Given the description of an element on the screen output the (x, y) to click on. 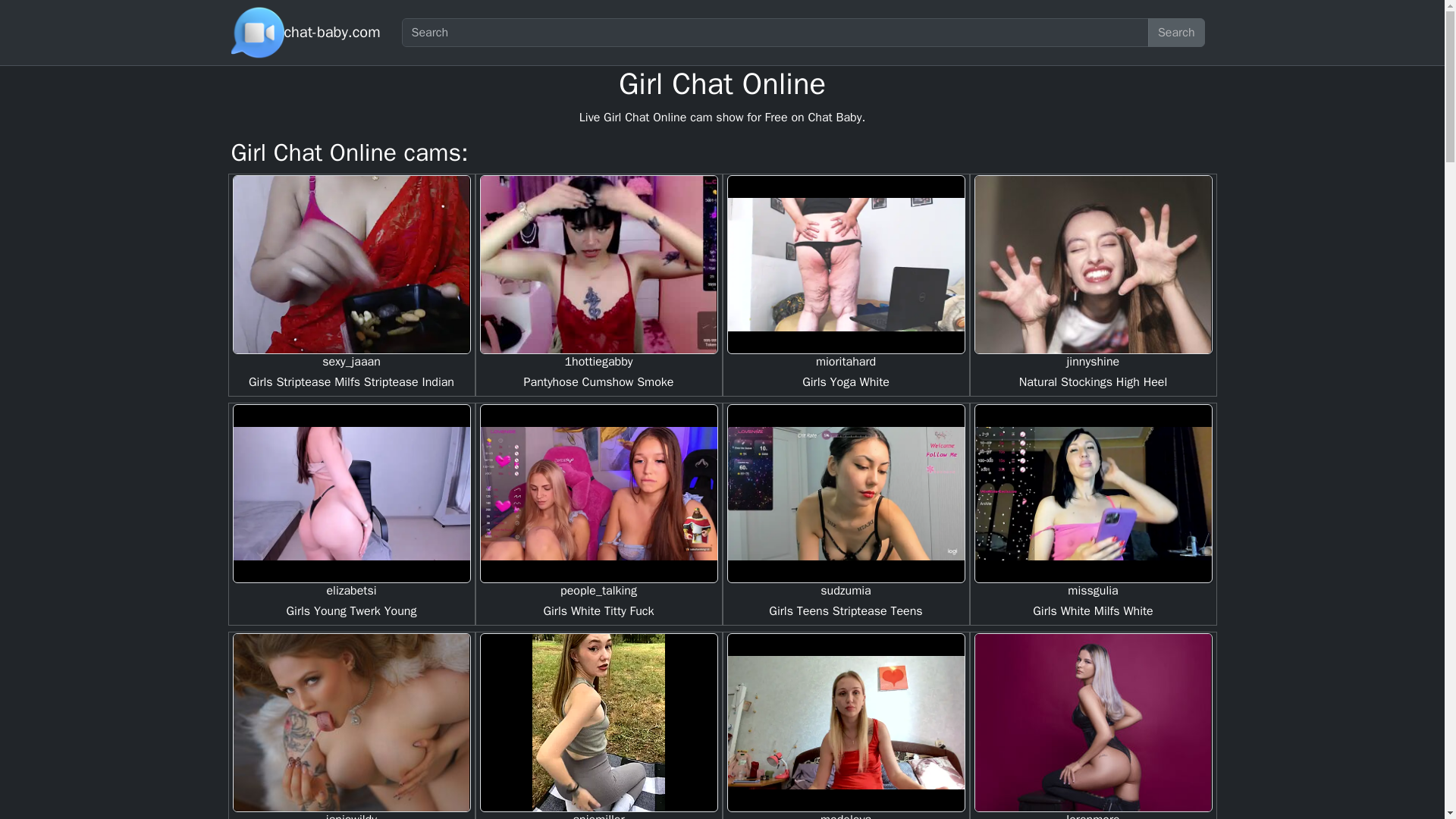
chat-baby.com (331, 32)
Search (1176, 32)
